Given the description of an element on the screen output the (x, y) to click on. 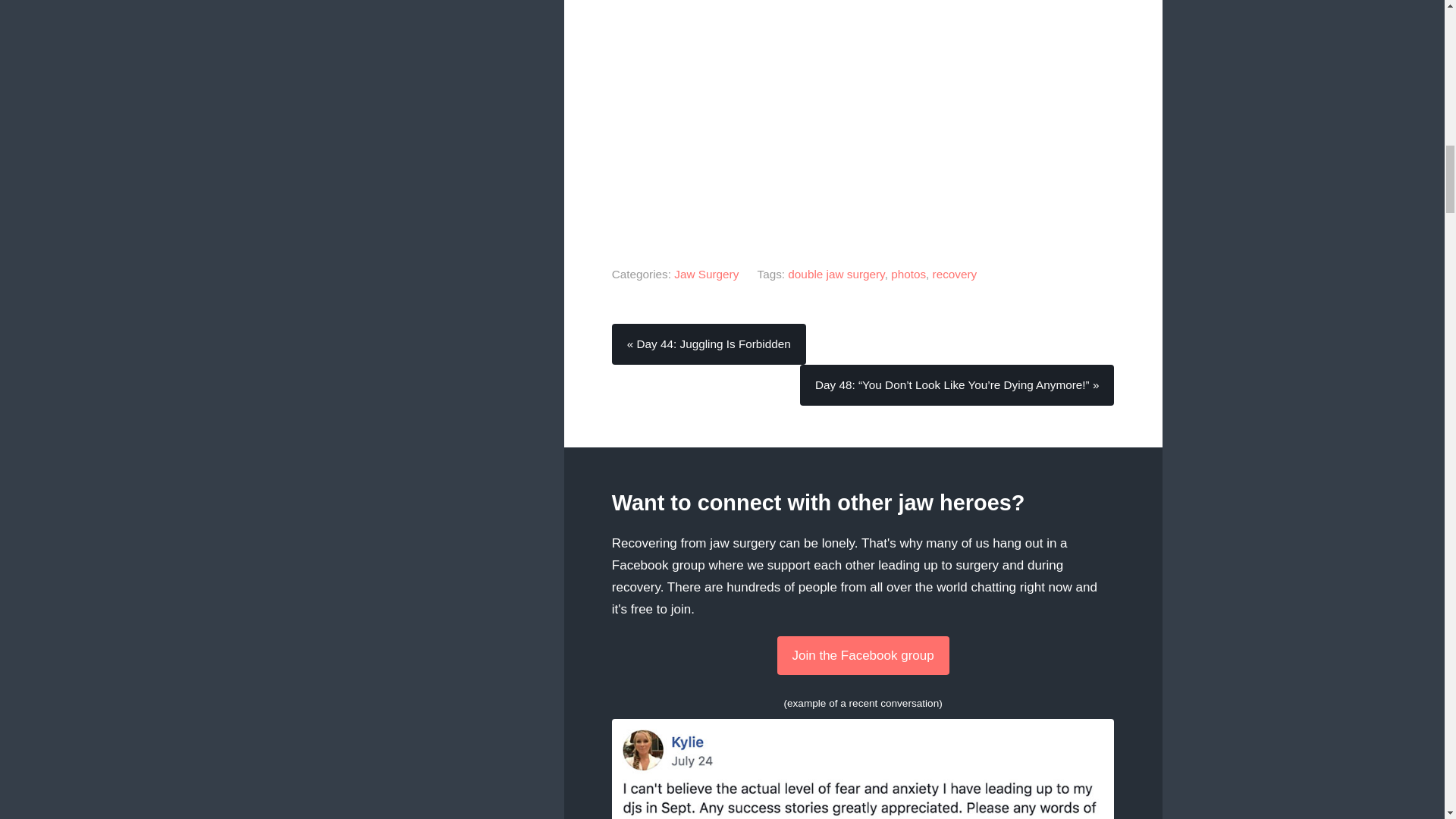
double jaw surgery (835, 273)
Jaw Surgery (706, 273)
Previous post: Day 44: Juggling Is Forbidden (708, 343)
Join the Facebook group (863, 655)
recovery (954, 273)
photos (908, 273)
